Given the description of an element on the screen output the (x, y) to click on. 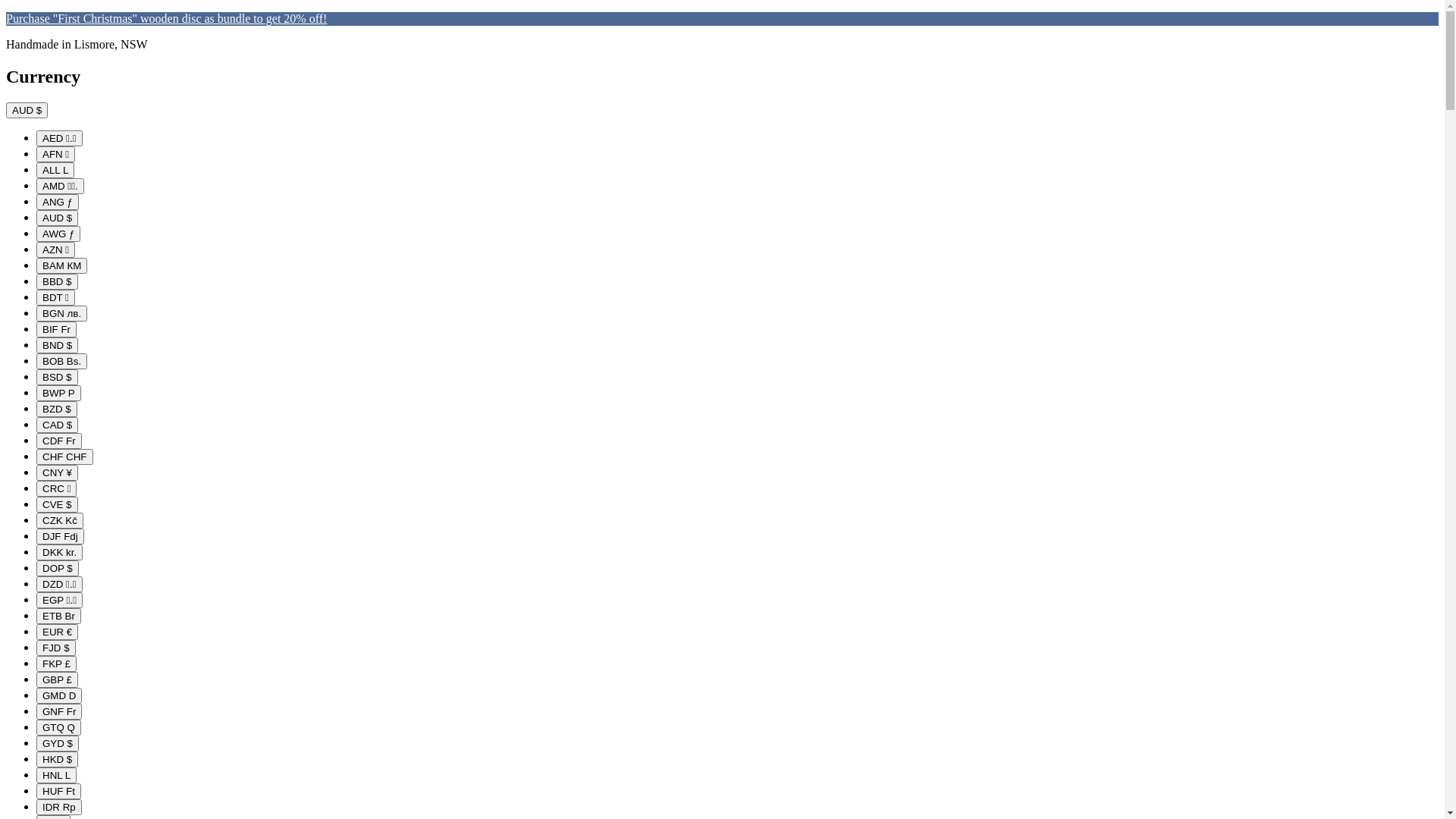
HUF Ft Element type: text (58, 791)
BBD $ Element type: text (57, 281)
CDF Fr Element type: text (58, 440)
GNF Fr Element type: text (58, 711)
HNL L Element type: text (56, 775)
FJD $ Element type: text (55, 647)
GYD $ Element type: text (57, 743)
DOP $ Element type: text (57, 568)
GMD D Element type: text (58, 695)
CAD $ Element type: text (57, 425)
CHF CHF Element type: text (64, 456)
BWP P Element type: text (58, 393)
AUD $ Element type: text (57, 217)
DJF Fdj Element type: text (60, 536)
BSD $ Element type: text (57, 377)
BIF Fr Element type: text (56, 329)
HKD $ Element type: text (57, 759)
ALL L Element type: text (55, 170)
CVE $ Element type: text (57, 504)
ETB Br Element type: text (58, 616)
BOB Bs. Element type: text (61, 361)
GTQ Q Element type: text (58, 727)
AUD $ Element type: text (26, 110)
BZD $ Element type: text (56, 409)
BND $ Element type: text (57, 345)
IDR Rp Element type: text (58, 807)
DKK kr. Element type: text (59, 552)
